Given the description of an element on the screen output the (x, y) to click on. 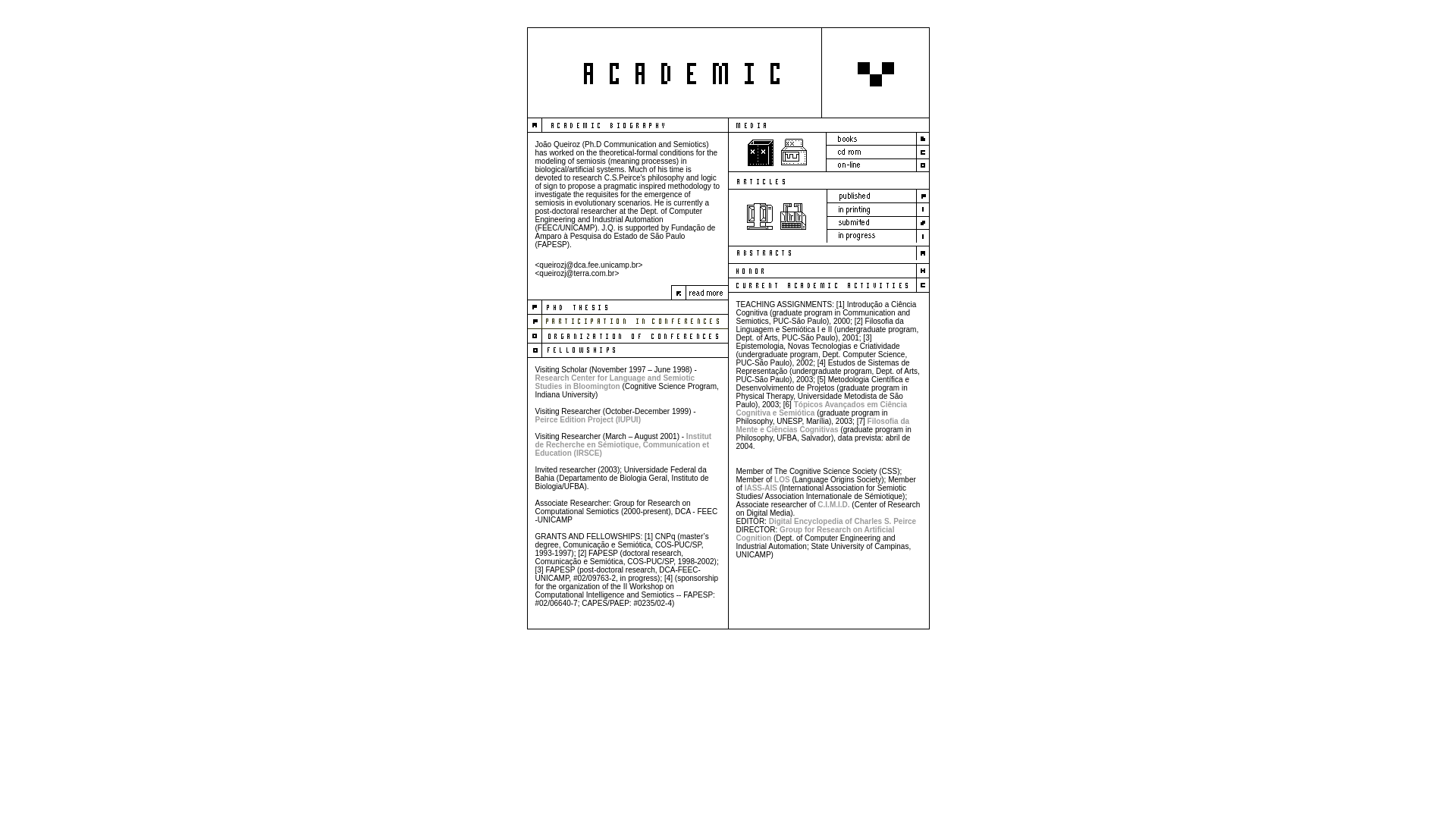
LOS Element type: text (782, 479)
Group for Research on Artificial Cognition Element type: text (814, 533)
IASS-AIS Element type: text (760, 487)
C.I.M.I.D. Element type: text (833, 504)
Digital Encyclopedia of Charles S. Peirce Element type: text (841, 521)
Peirce Edition Project (IUPUI) Element type: text (587, 419)
